Given the description of an element on the screen output the (x, y) to click on. 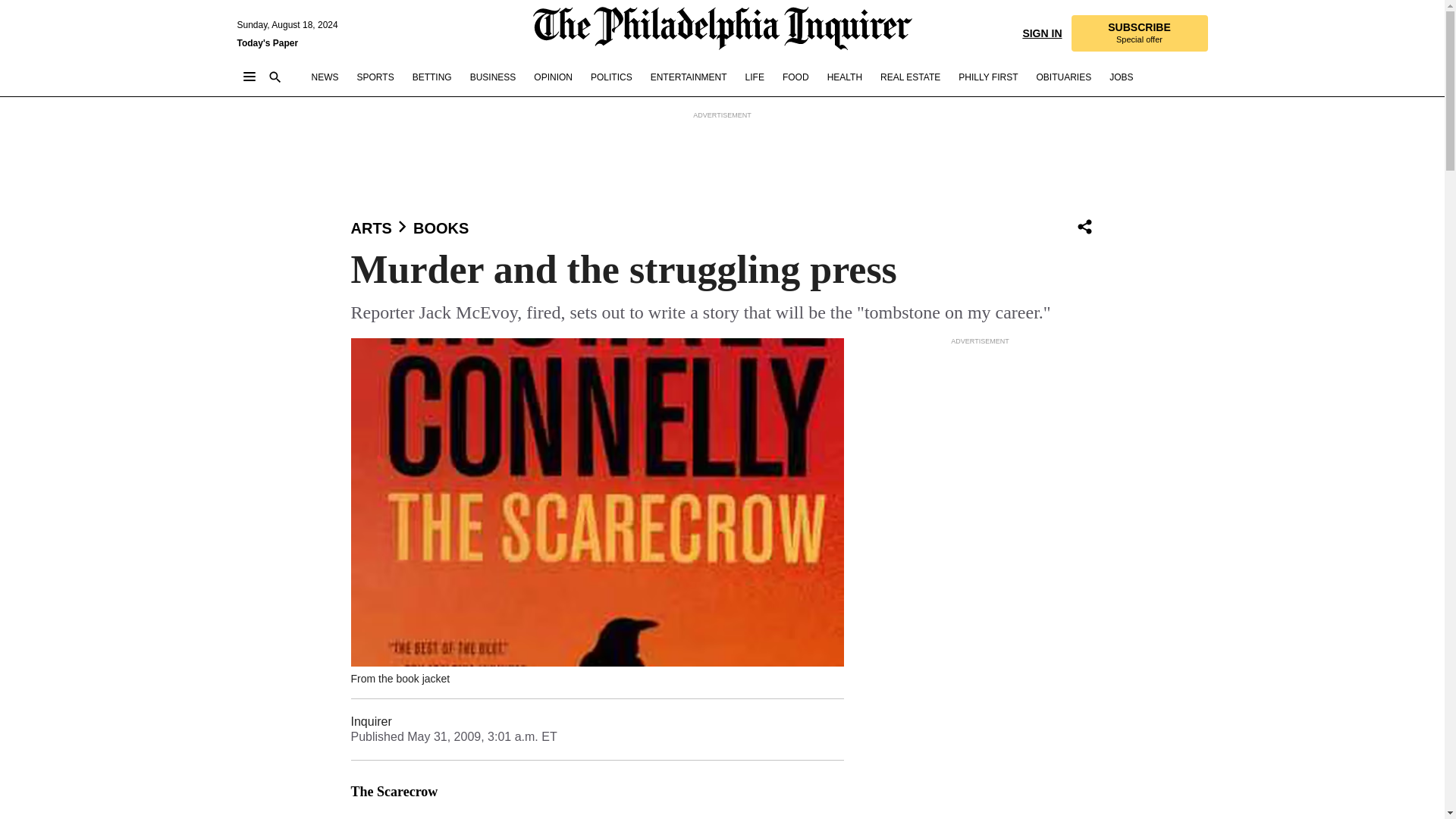
ARTS (370, 227)
SPORTS (375, 77)
NEWS (325, 77)
ENTERTAINMENT (1138, 33)
Share Icon (688, 77)
Today's Paper (1084, 227)
HEALTH (266, 42)
OBITUARIES (844, 77)
FOOD (1062, 77)
